Given the description of an element on the screen output the (x, y) to click on. 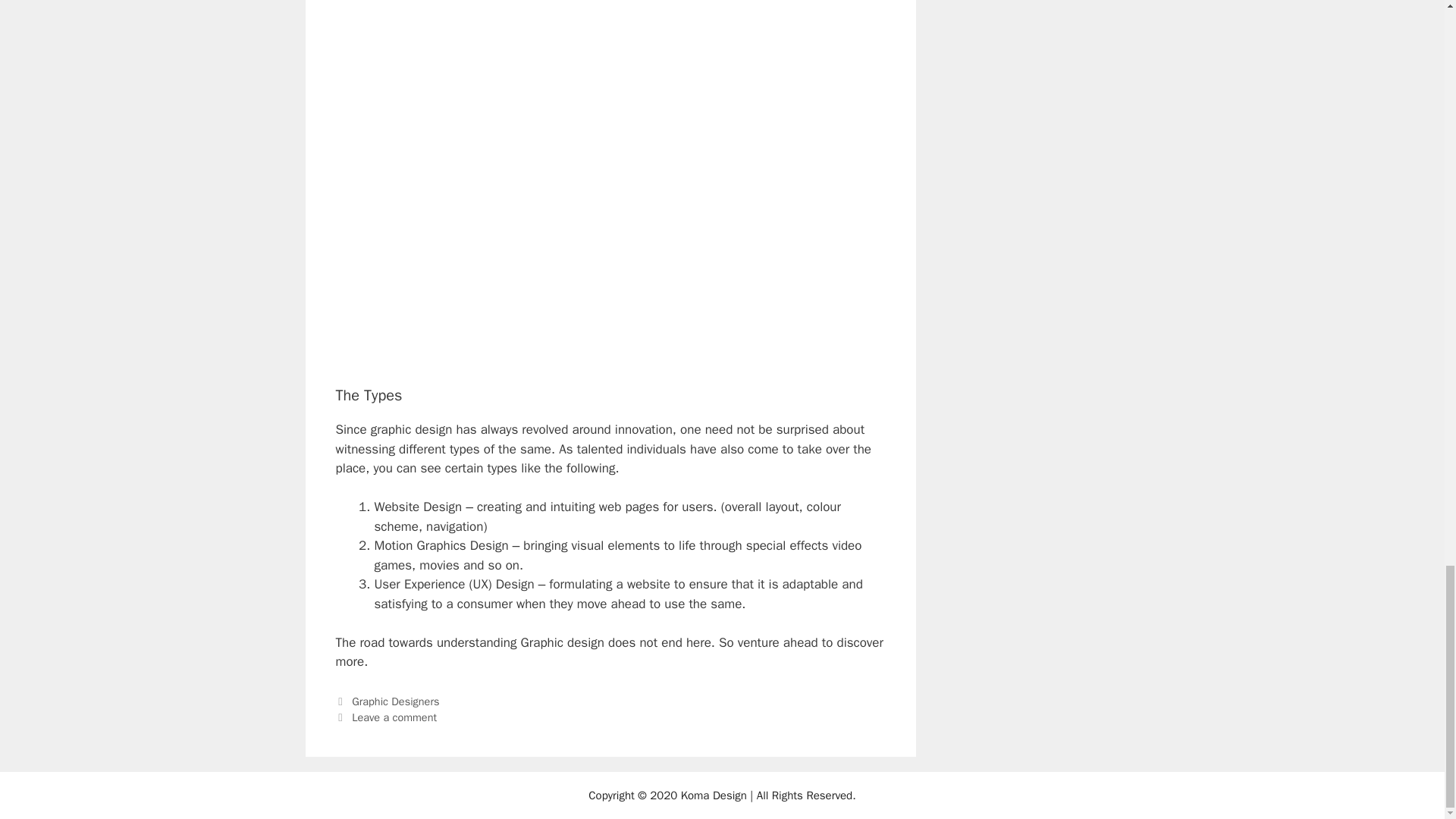
Graphic Designers (395, 701)
Leave a comment (394, 716)
